Given the description of an element on the screen output the (x, y) to click on. 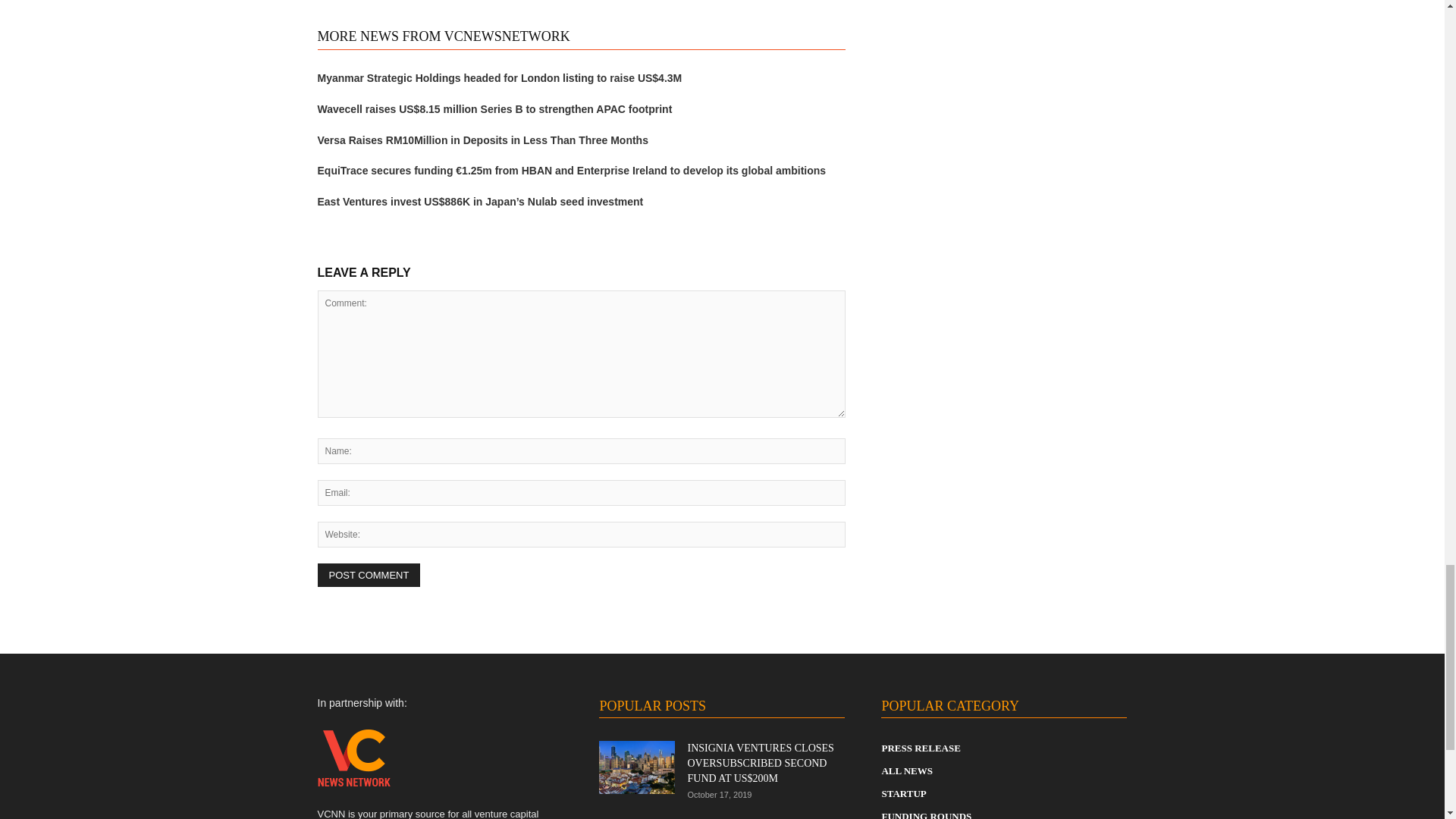
Post Comment (368, 575)
